Given the description of an element on the screen output the (x, y) to click on. 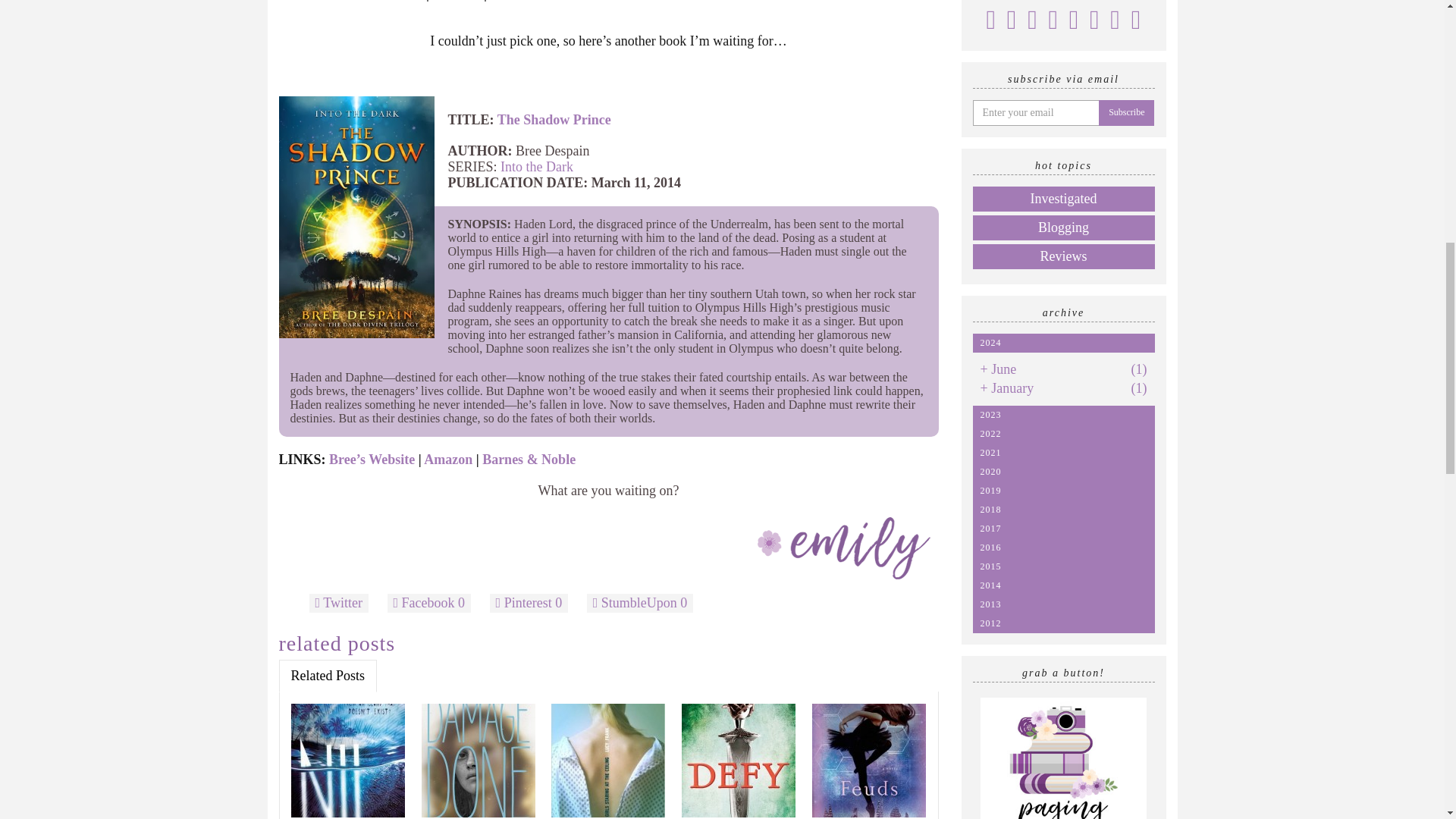
Paging Serenity Button (1063, 758)
Pinterest 0 (529, 602)
Amazon (456, 0)
Amazon (447, 459)
Related Posts (327, 675)
Into the Dark (536, 166)
StumbleUpon 0 (640, 602)
Twitter (338, 602)
Facebook 0 (428, 602)
The Shadow Prince (554, 119)
Subscribe (1126, 112)
